Given the description of an element on the screen output the (x, y) to click on. 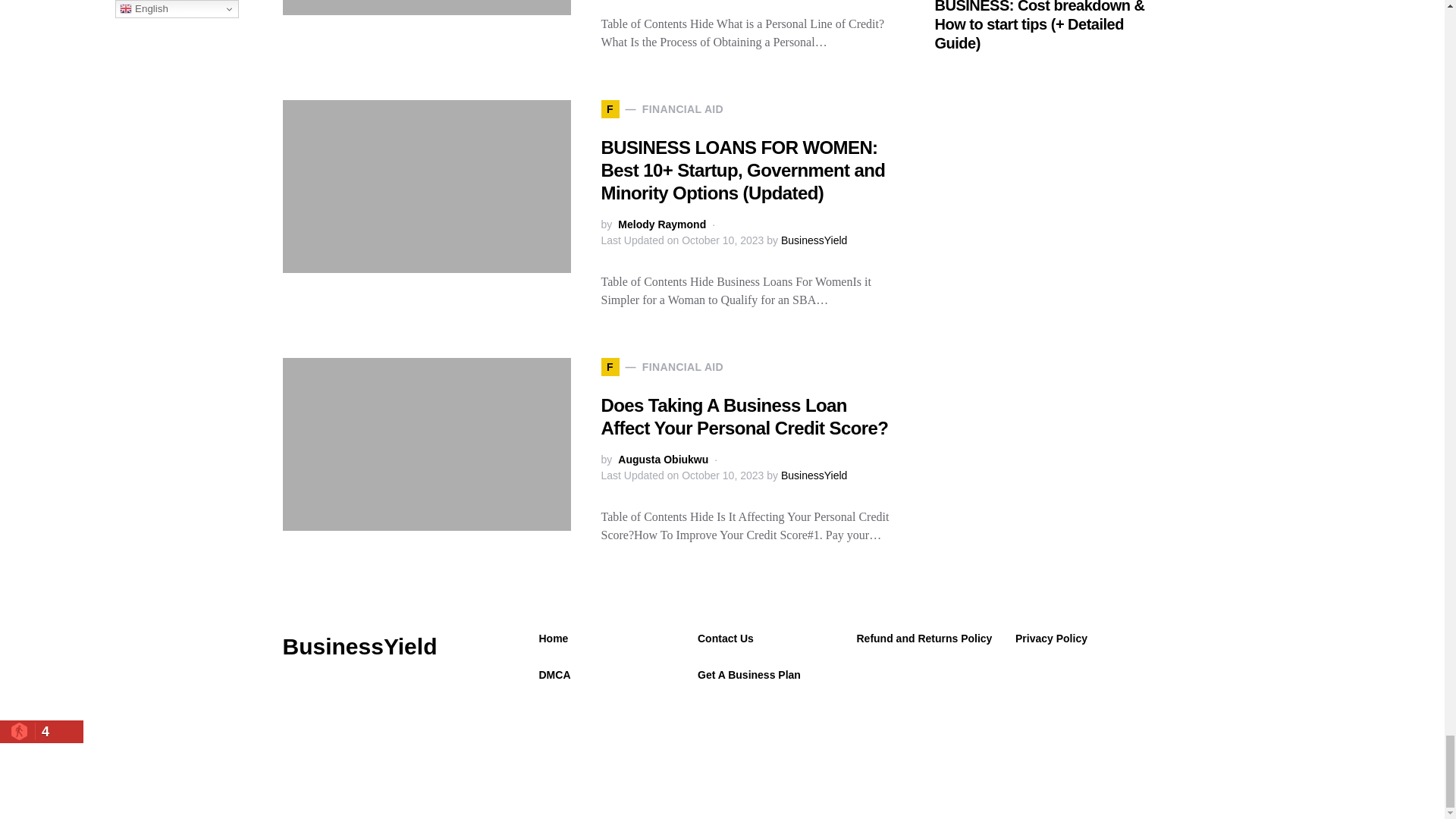
View all posts by Augusta Obiukwu (662, 459)
View all posts by Melody Raymond (661, 224)
